Given the description of an element on the screen output the (x, y) to click on. 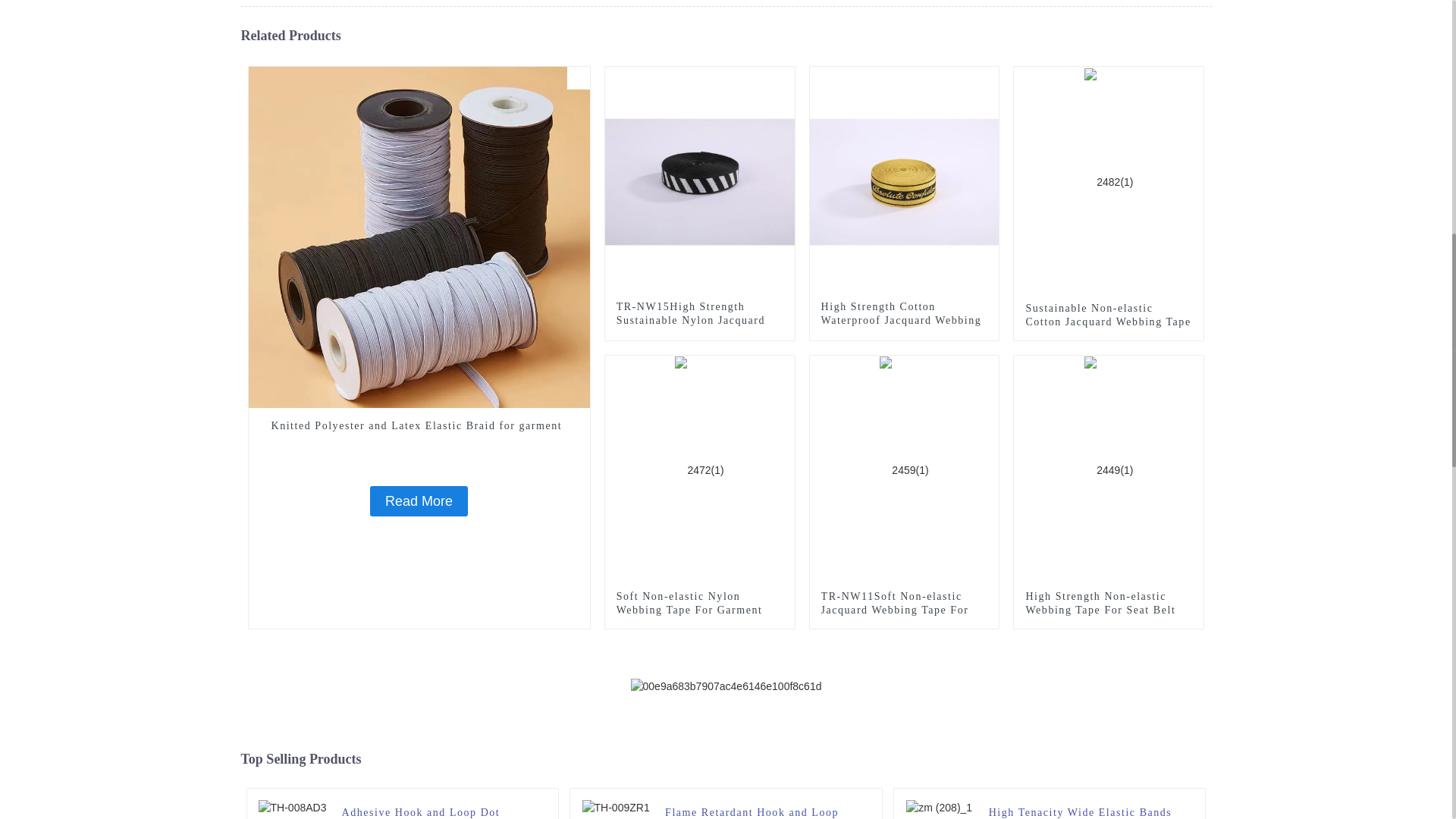
Knitted Polyester and Latex Elastic Braid for garment (418, 501)
Knitted Polyester and Latex Elastic Braid for garment (418, 426)
Knitted Polyester and Latex Elastic Braid for garment (418, 236)
f03dbbdad56fa1bdbac090821956189 (578, 77)
Soft Non-elastic Nylon Webbing Tape For Garment TR-NW12 (699, 469)
